Given the description of an element on the screen output the (x, y) to click on. 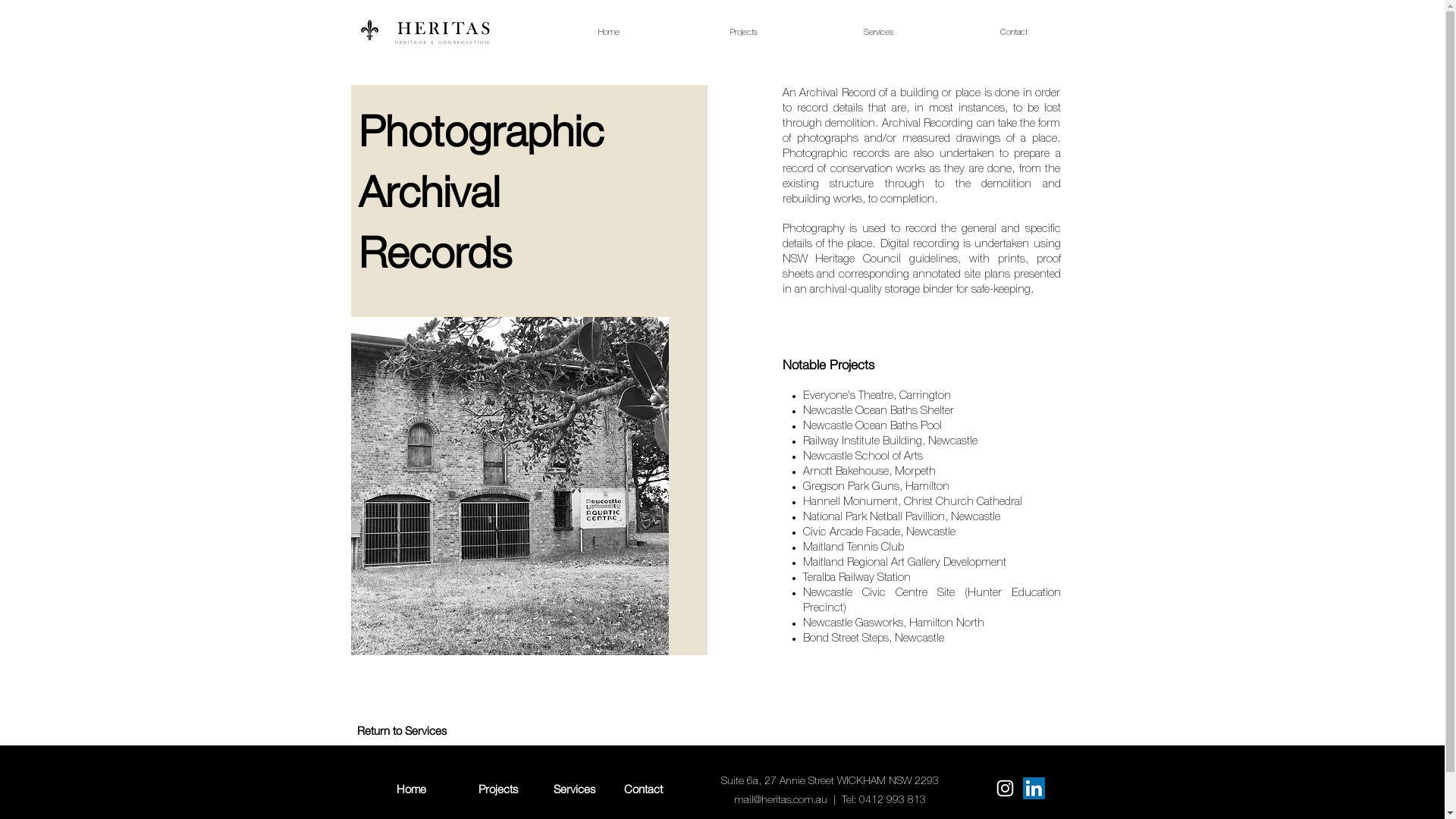
Projects Element type: text (497, 788)
Contact Element type: text (1013, 32)
Home Element type: text (411, 788)
Services Element type: text (878, 32)
mail@heritas.com.au Element type: text (780, 800)
Return to Services Element type: text (401, 730)
Contact Element type: text (642, 788)
Projects Element type: text (743, 32)
Home Element type: text (608, 32)
Services Element type: text (574, 788)
